Given the description of an element on the screen output the (x, y) to click on. 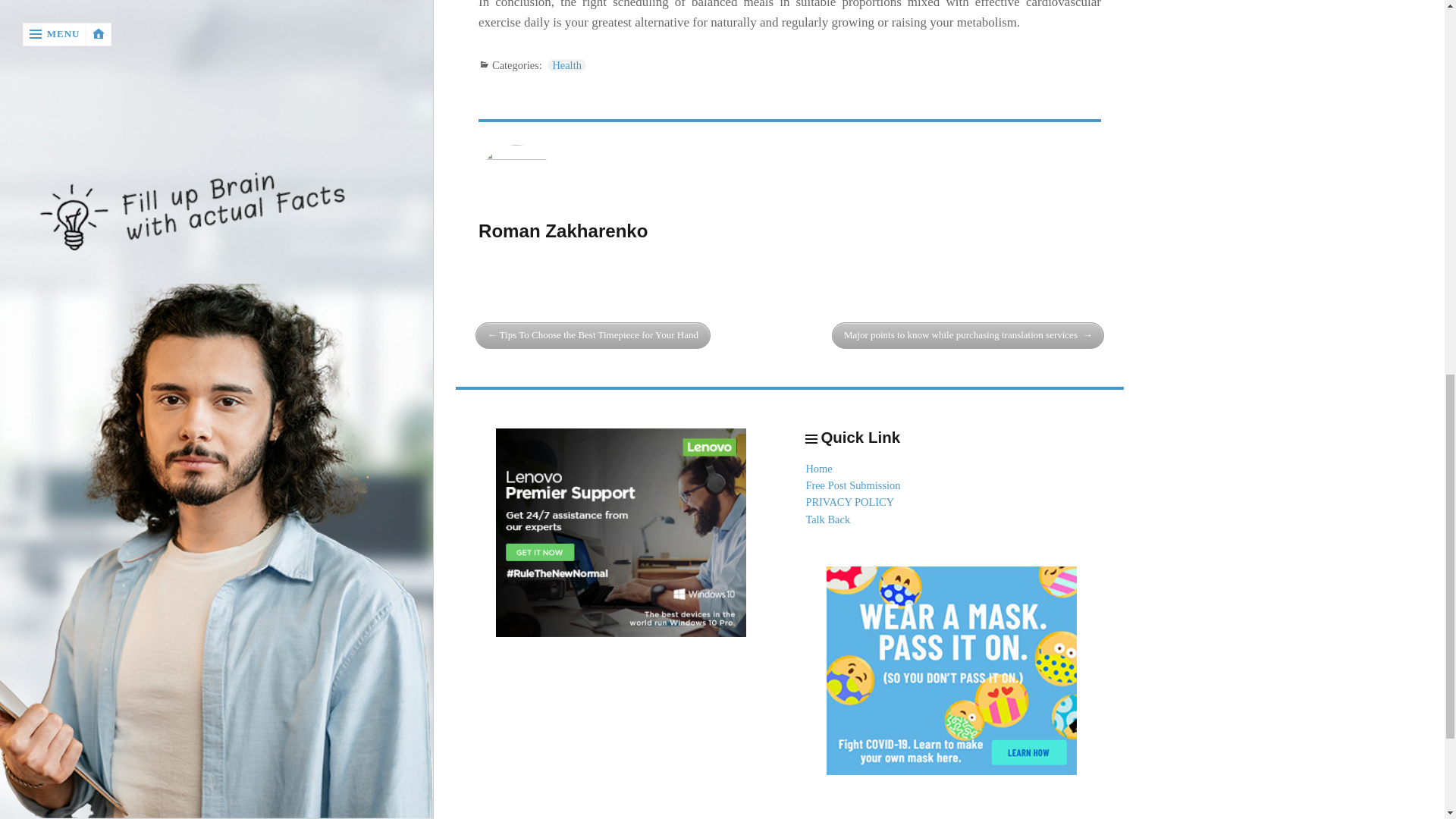
Home (818, 468)
Health (566, 64)
Major points to know while purchasing translation services  (967, 335)
Talk Back (827, 519)
Tips To Choose the Best Timepiece for Your Hand (593, 335)
PRIVACY POLICY (849, 501)
Free Post Submission (852, 485)
